Given the description of an element on the screen output the (x, y) to click on. 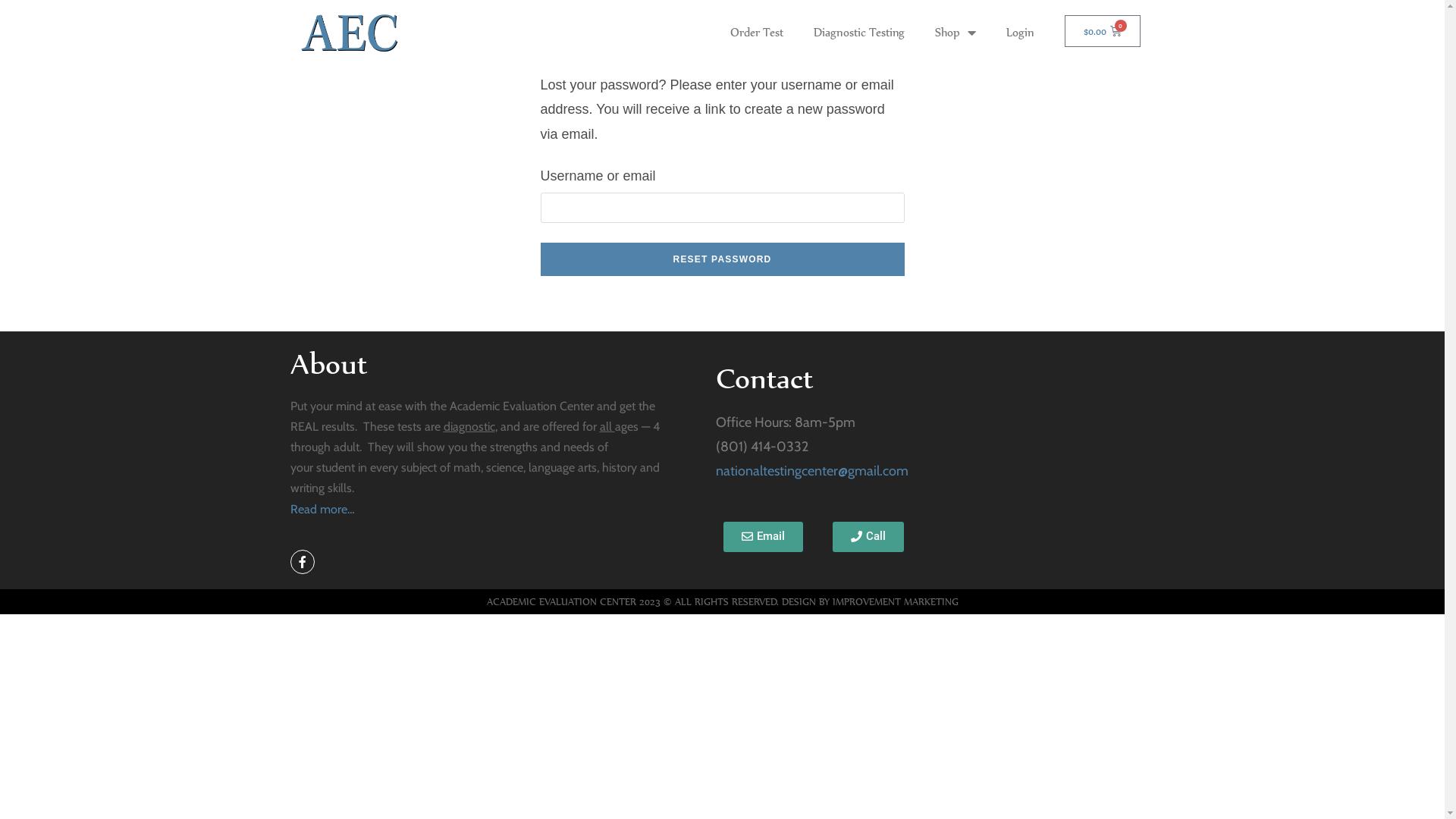
nationaltestingcenter@gmail.com Element type: text (811, 470)
Diagnostic Testing Element type: text (858, 32)
Shop Element type: text (955, 32)
Email Element type: text (763, 536)
Order Test Element type: text (756, 32)
Login Element type: text (1020, 32)
$0.00
0 Element type: text (1102, 31)
Call Element type: text (867, 536)
RESET PASSWORD Element type: text (721, 259)
